Given the description of an element on the screen output the (x, y) to click on. 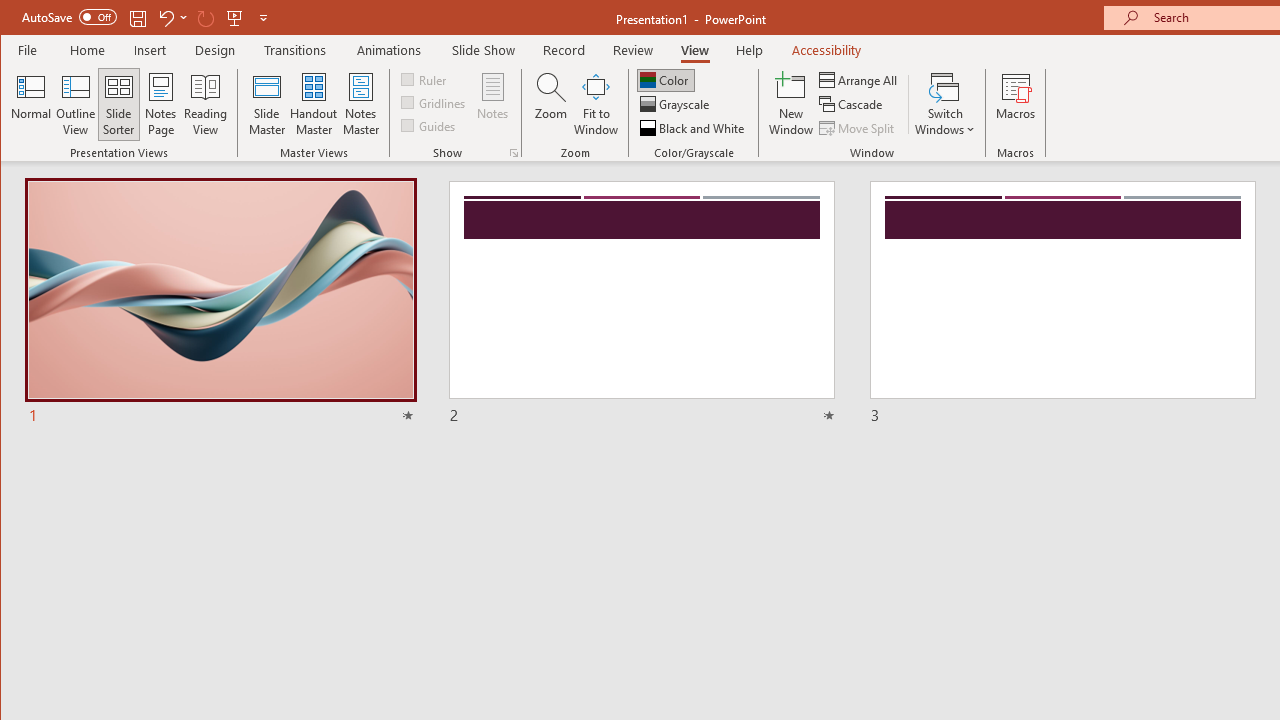
Move Split (858, 127)
Macros (1016, 104)
Notes (493, 104)
Outline View (75, 104)
